Given the description of an element on the screen output the (x, y) to click on. 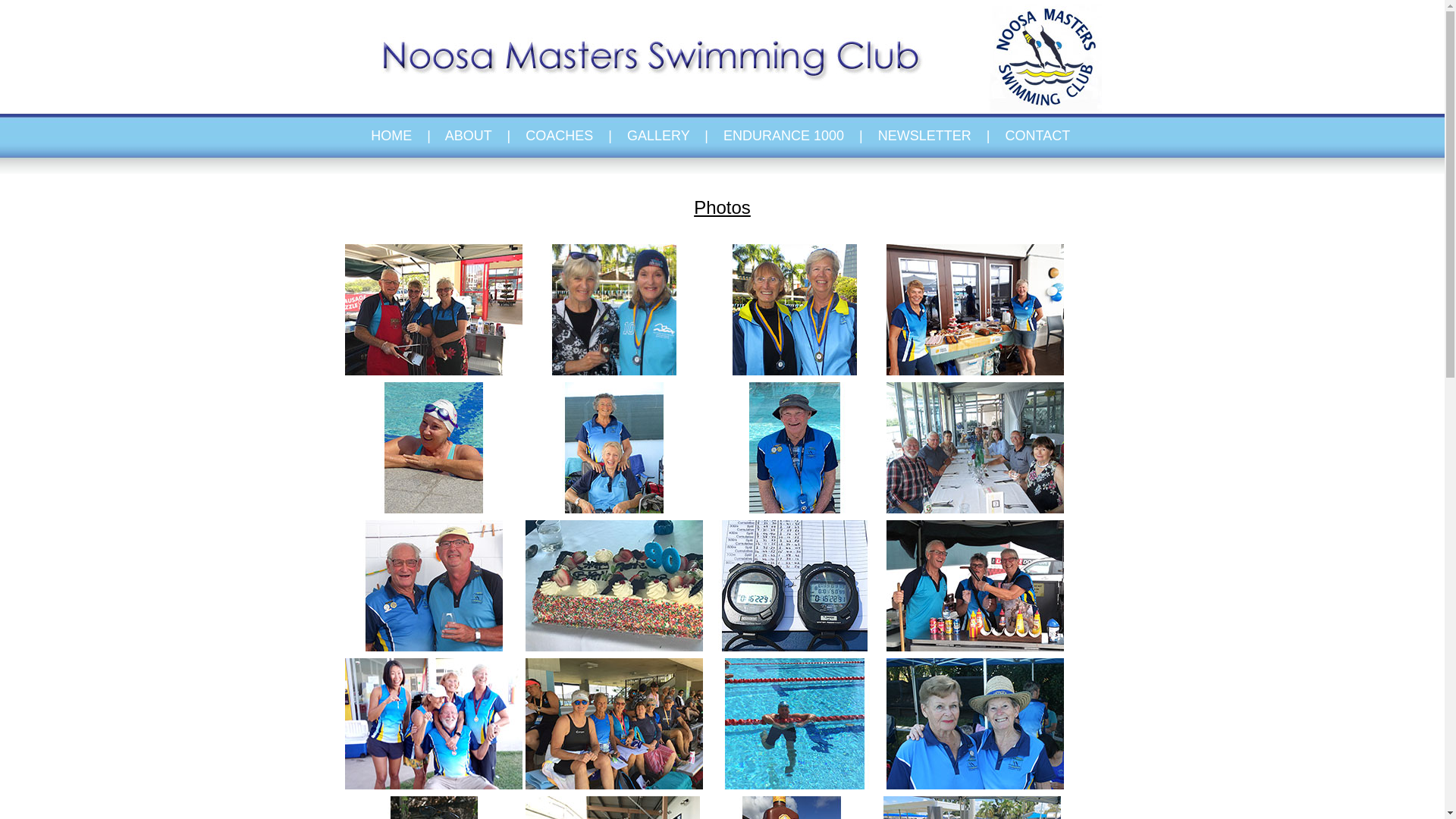
 HOME     Element type: text (396, 135)
ABOUT Element type: text (468, 135)
NEWSLETTER Element type: text (924, 135)
COACHES Element type: text (559, 135)
GALLERY Element type: text (658, 135)
ENDURANCE 1000 Element type: text (783, 135)
CONTACT Element type: text (1036, 135)
